Given the description of an element on the screen output the (x, y) to click on. 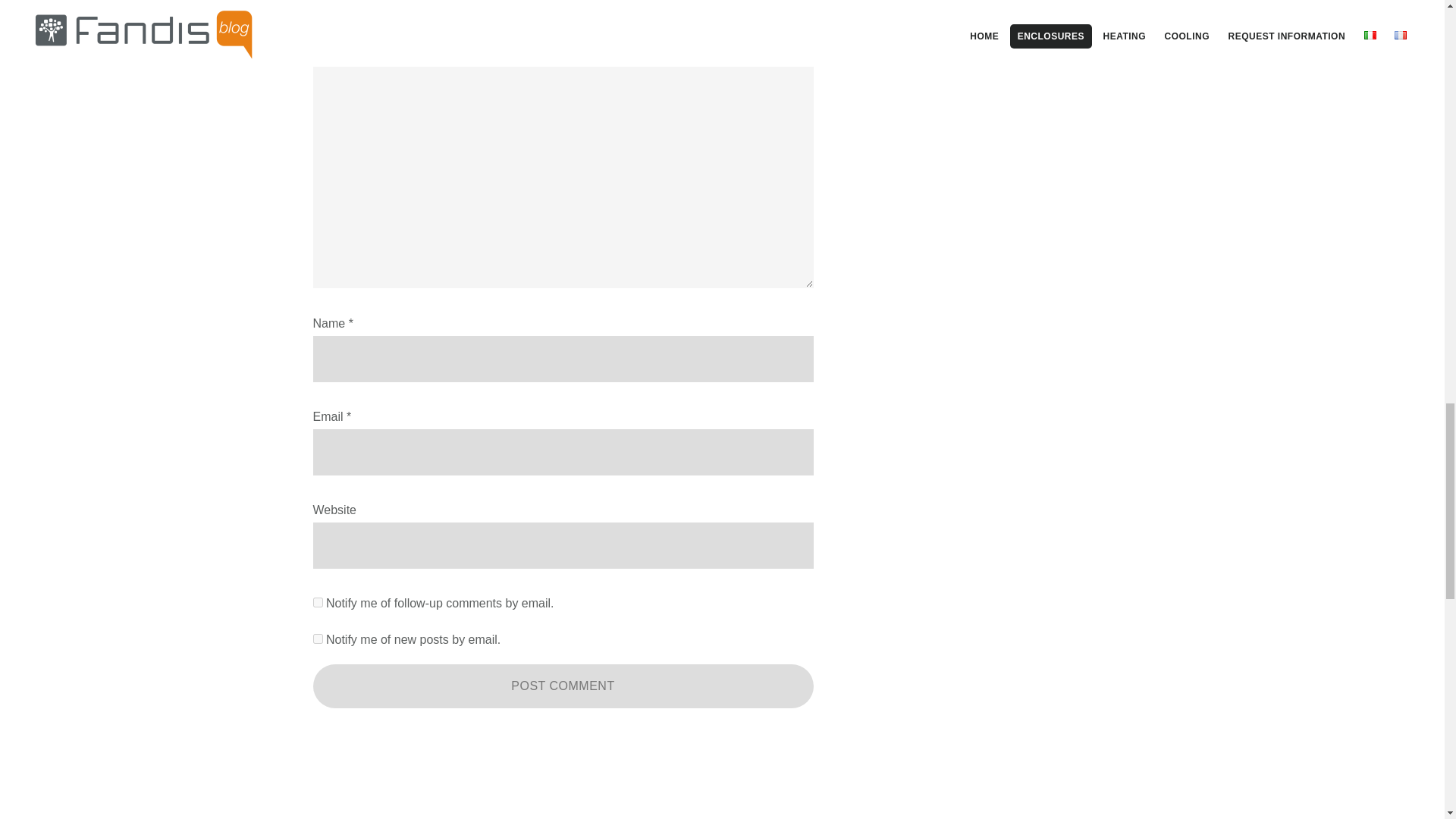
Post Comment (562, 686)
subscribe (317, 638)
subscribe (317, 602)
Post Comment (562, 686)
